Given the description of an element on the screen output the (x, y) to click on. 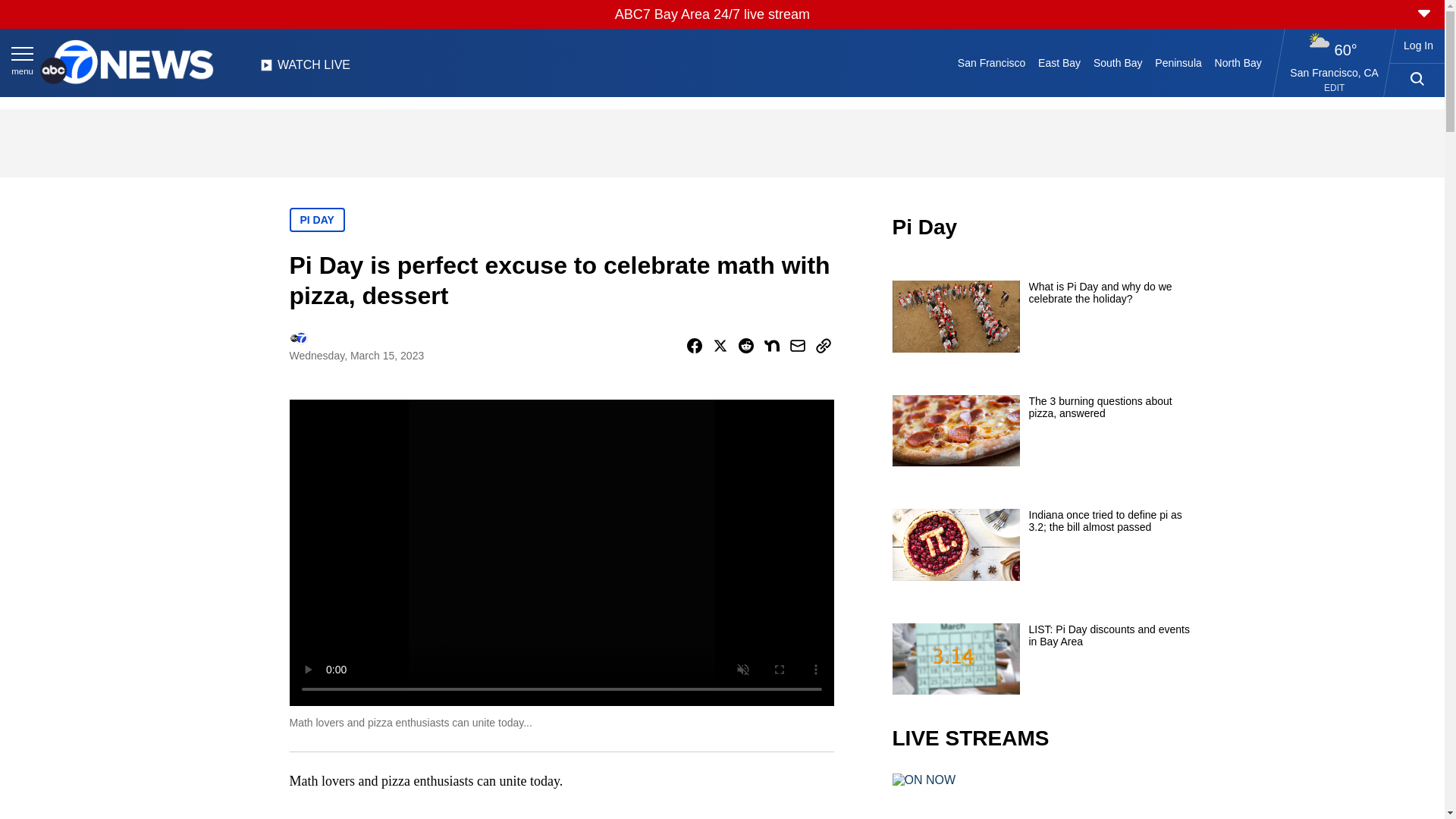
North Bay (1238, 62)
Peninsula (1178, 62)
East Bay (1059, 62)
South Bay (1117, 62)
San Francisco, CA (1334, 72)
San Francisco (990, 62)
WATCH LIVE (305, 69)
EDIT (1333, 87)
